Given the description of an element on the screen output the (x, y) to click on. 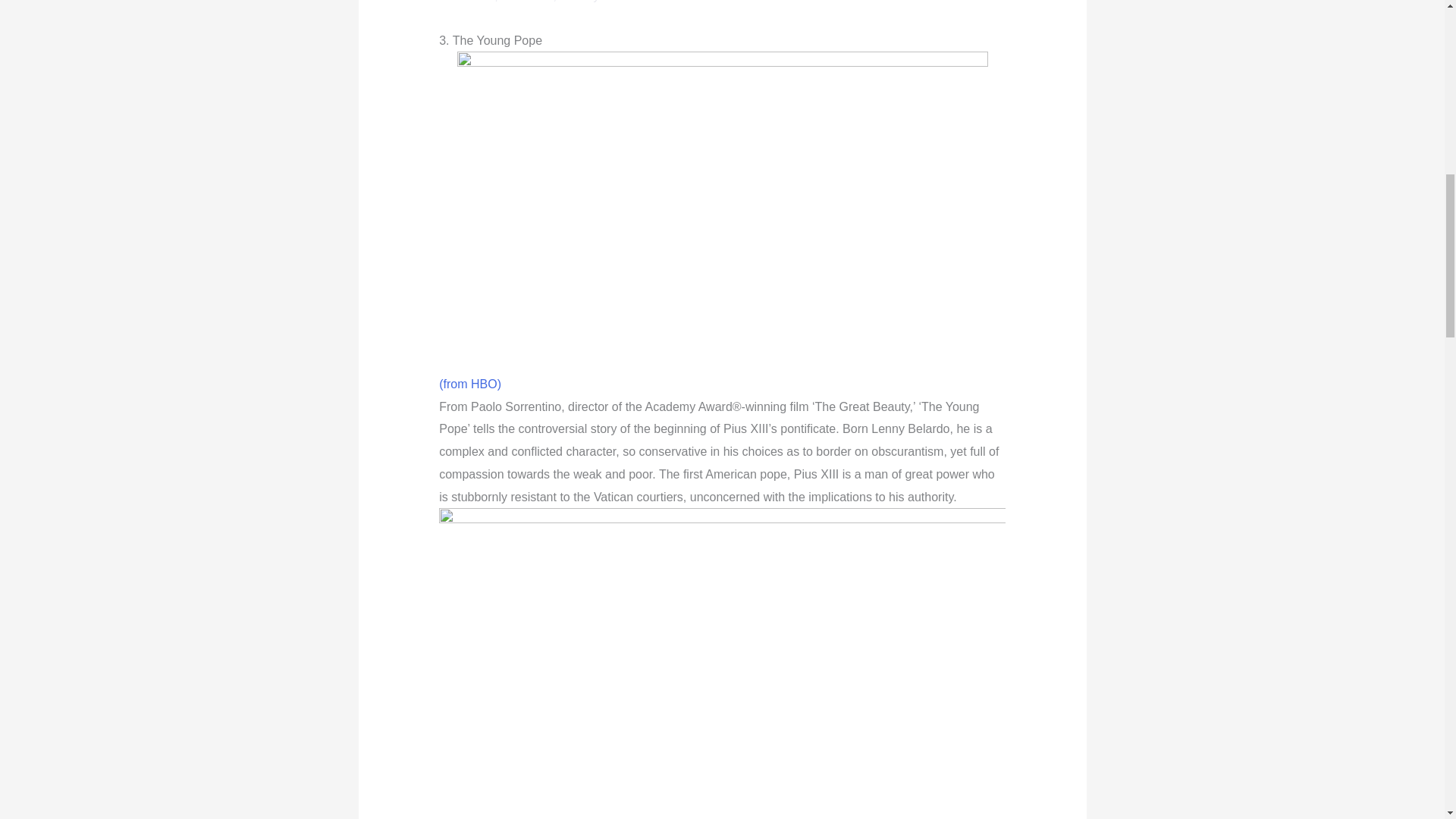
drewcrowder (637, 1)
View all posts by drewcrowder (637, 1)
TV (567, 1)
Featured (470, 1)
Hot Flash (526, 1)
